Given the description of an element on the screen output the (x, y) to click on. 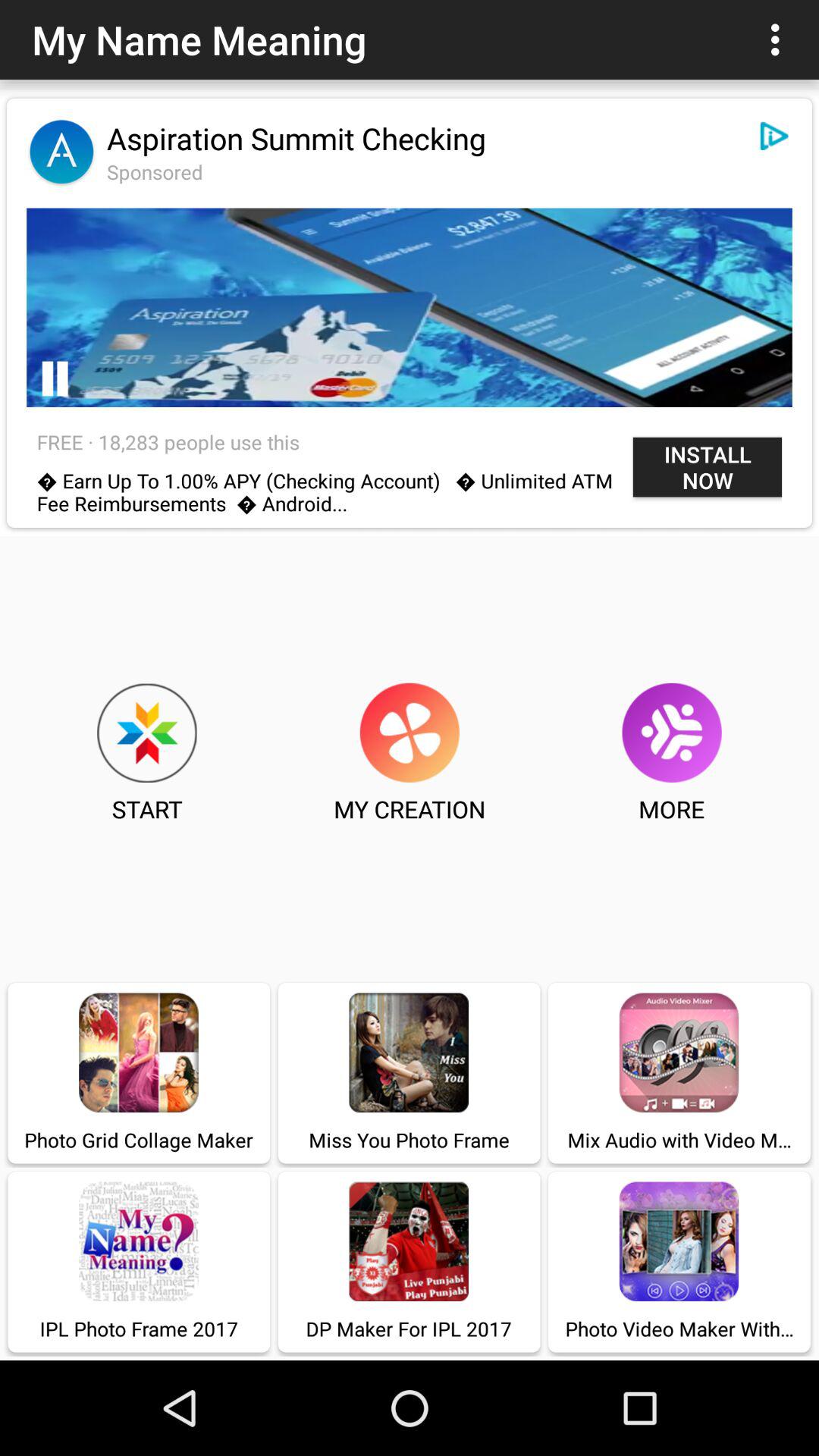
launch the item next to the free 18 283 icon (707, 467)
